Given the description of an element on the screen output the (x, y) to click on. 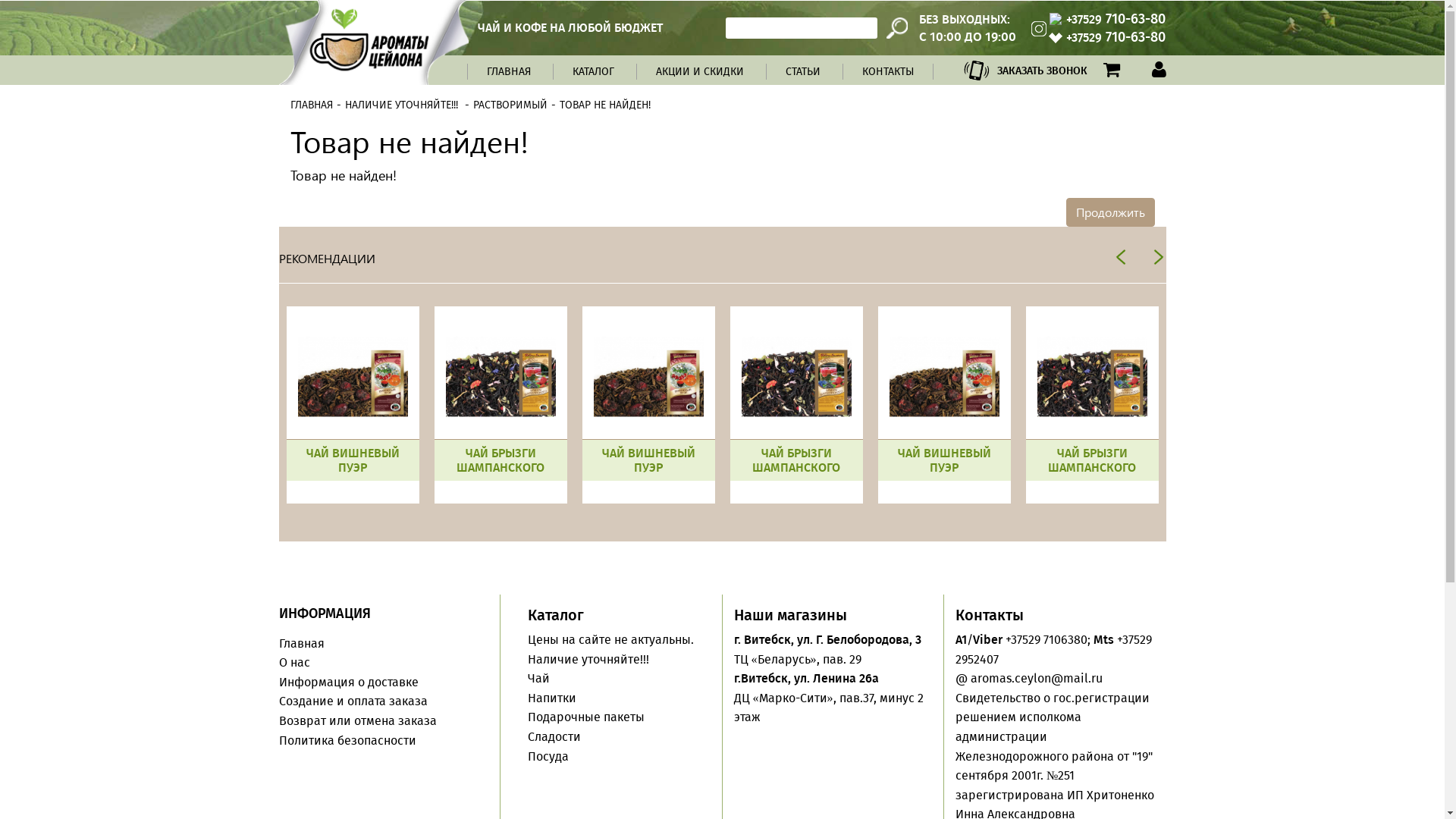
+37529710-63-80 Element type: text (1115, 37)
+37529710-63-80 Element type: text (1115, 19)
+37529 7106380 Element type: text (1046, 639)
aromas.ceylon@mail.ru Element type: text (1036, 678)
+37529 2952407 Element type: text (1053, 649)
